Given the description of an element on the screen output the (x, y) to click on. 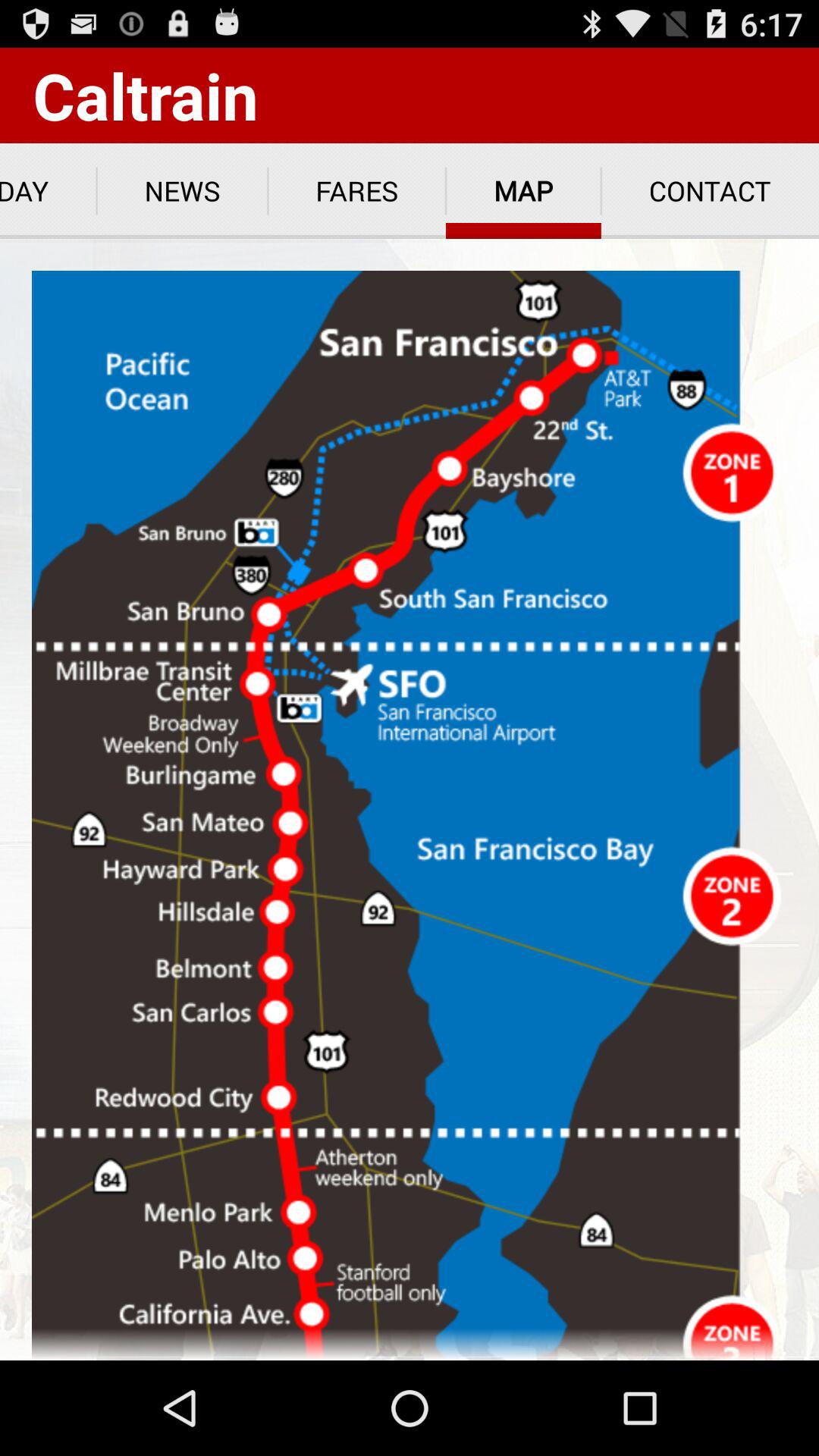
select the item next to the today icon (181, 190)
